Given the description of an element on the screen output the (x, y) to click on. 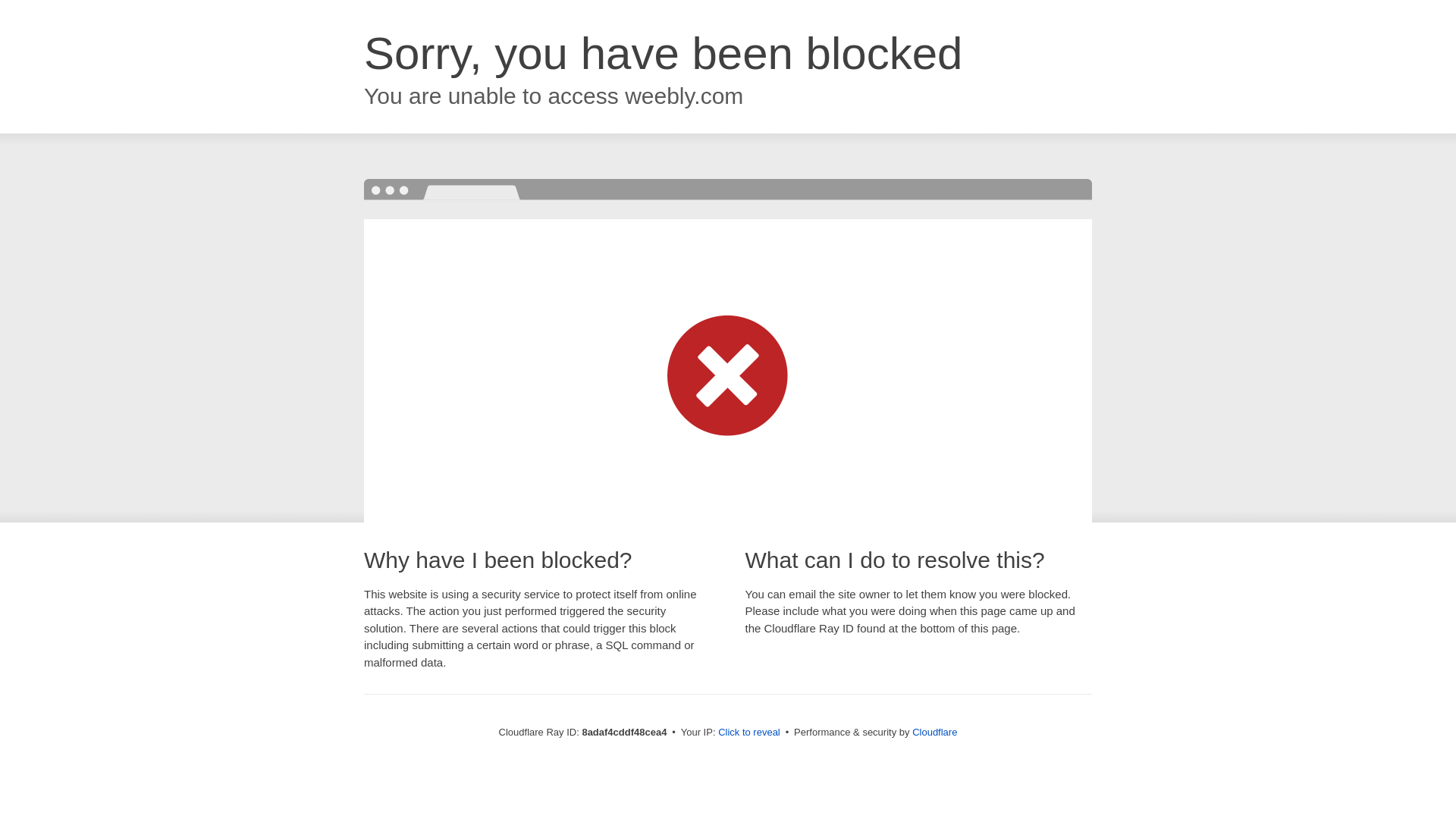
Click to reveal (748, 732)
Cloudflare (934, 731)
